Given the description of an element on the screen output the (x, y) to click on. 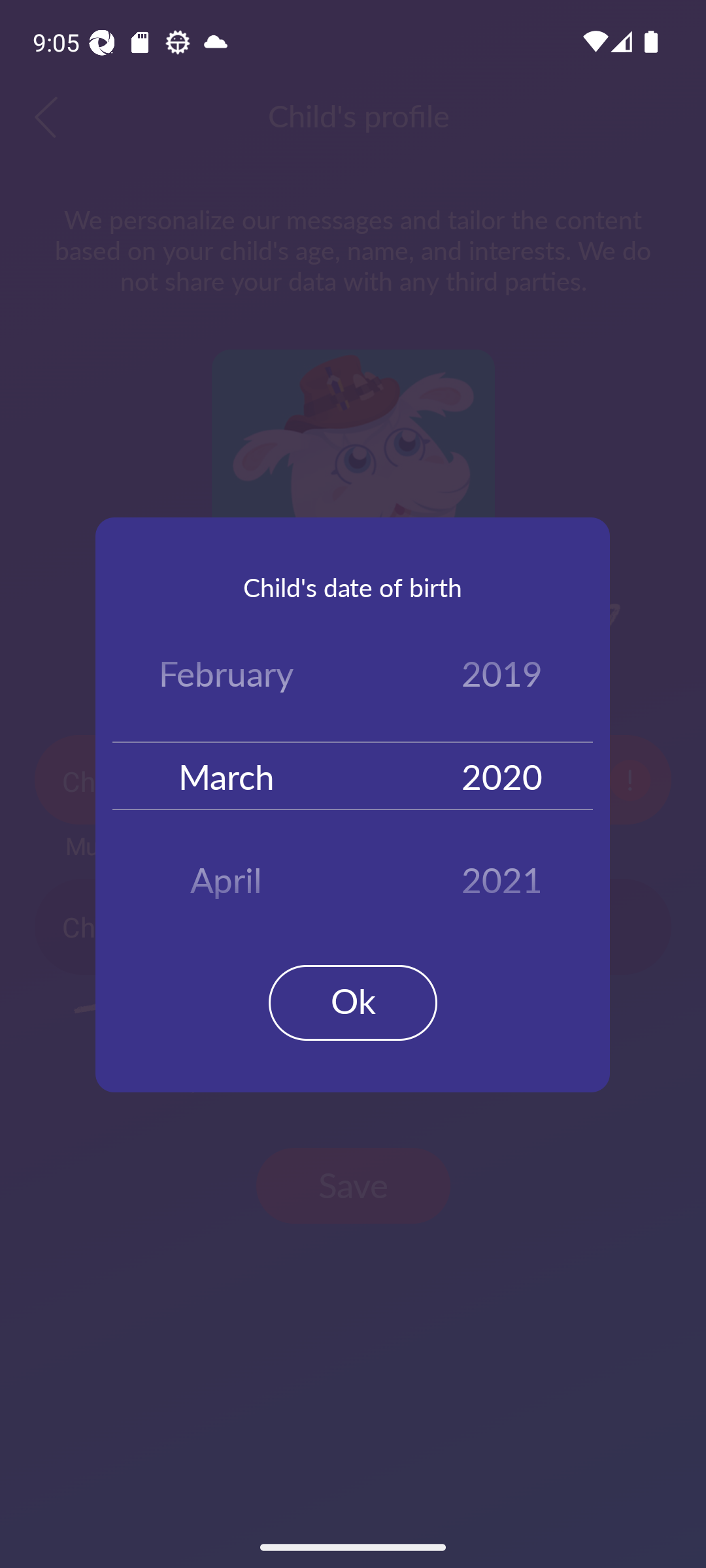
February (226, 676)
2019 (501, 676)
March (226, 774)
2020 (501, 774)
April (226, 872)
2021 (501, 872)
Ok (352, 1002)
